Given the description of an element on the screen output the (x, y) to click on. 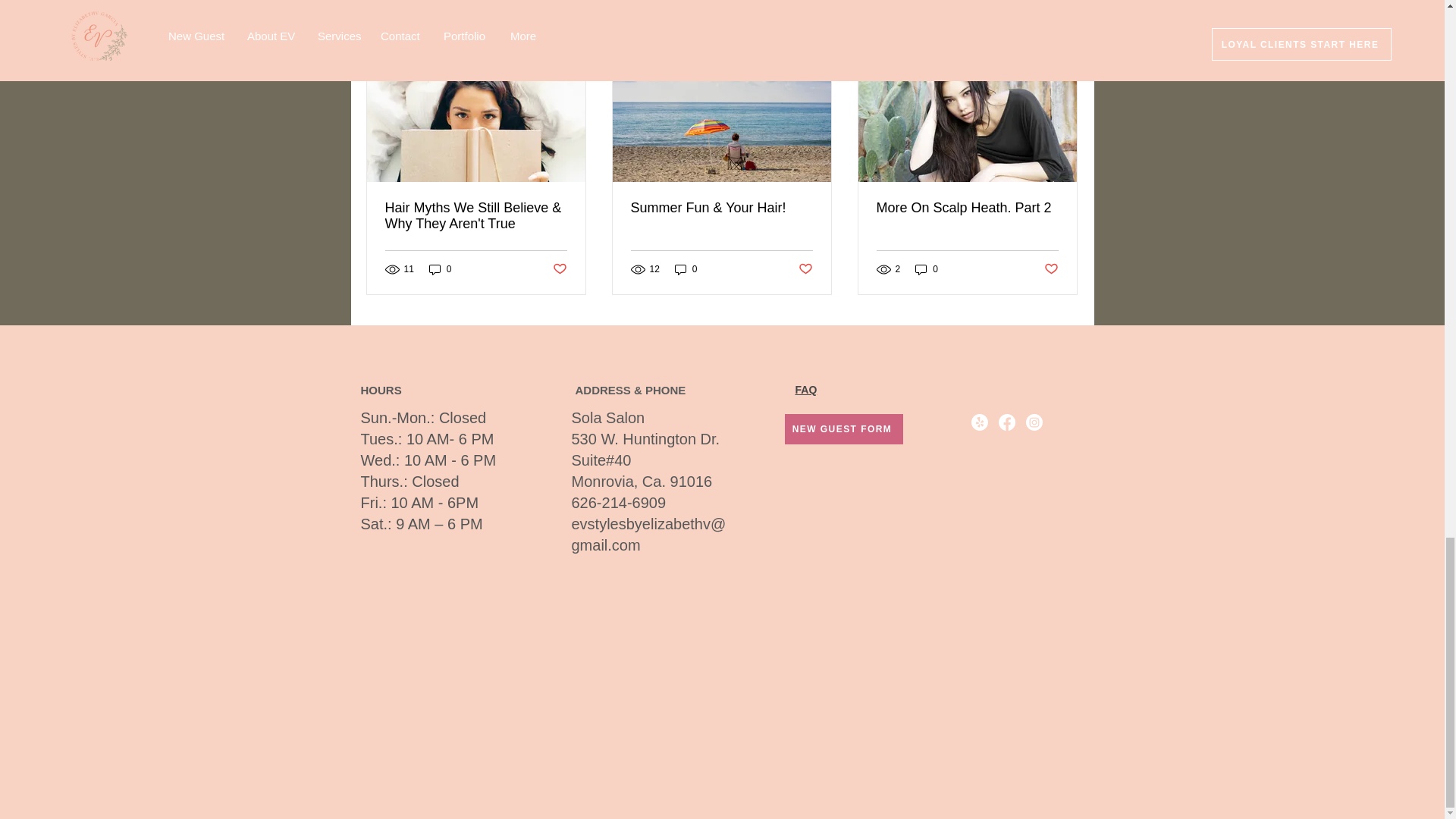
Post not marked as liked (804, 269)
FAQ (805, 389)
0 (926, 269)
Post not marked as liked (1050, 269)
Post not marked as liked (558, 269)
More On Scalp Heath. Part 2 (967, 207)
0 (440, 269)
0 (685, 269)
See All (1061, 32)
